Given the description of an element on the screen output the (x, y) to click on. 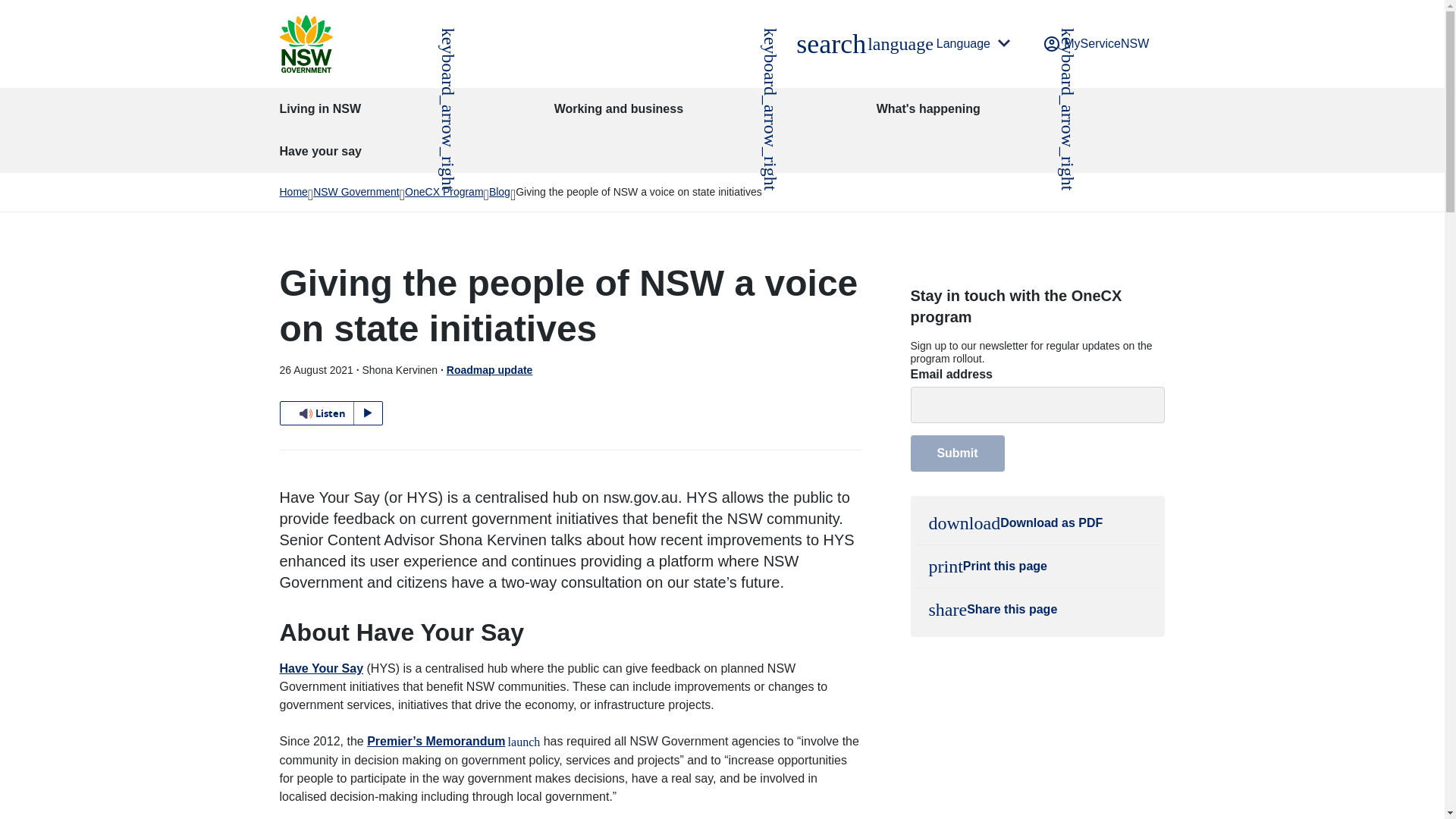
Listen to this page using ReadSpeaker webReader (330, 413)
Submit (957, 452)
